Given the description of an element on the screen output the (x, y) to click on. 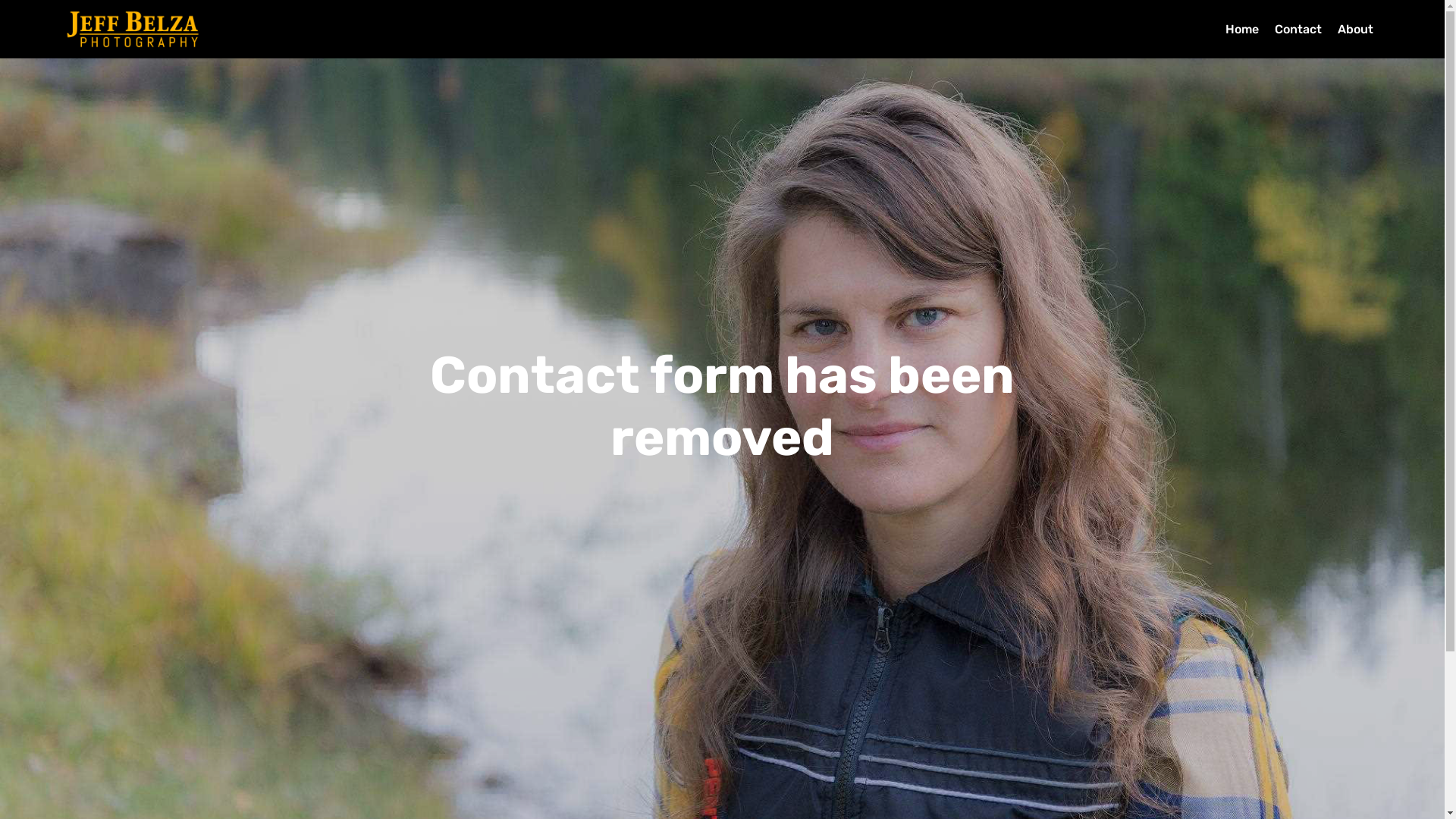
Jeff Belza Photography Element type: hover (132, 29)
About  Element type: text (1356, 28)
Home Element type: text (1241, 28)
Contact Element type: text (1297, 28)
